Given the description of an element on the screen output the (x, y) to click on. 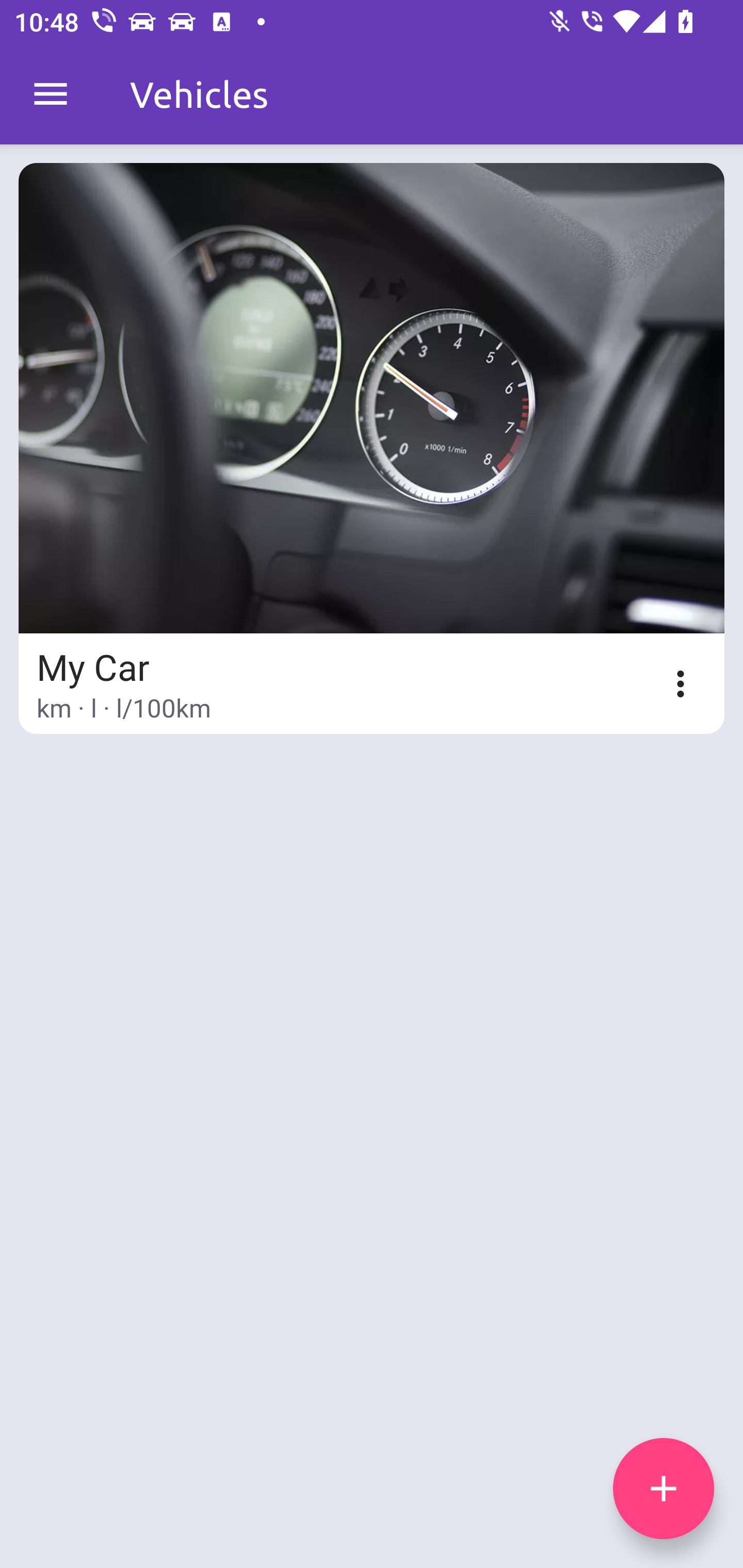
MenuDrawer (50, 93)
My Car km · l · l/100km (371, 448)
add icon (663, 1488)
